Given the description of an element on the screen output the (x, y) to click on. 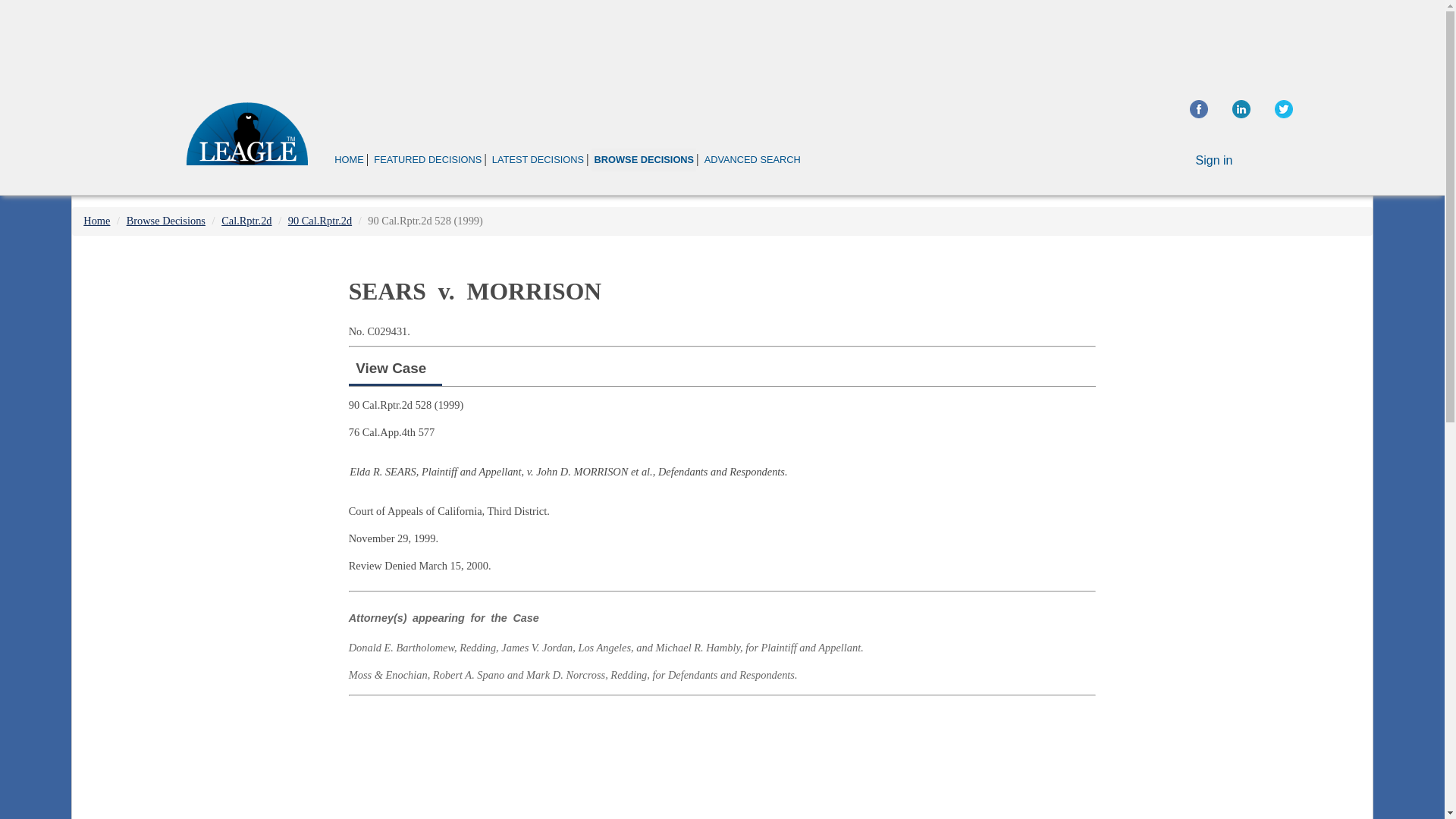
Home (96, 220)
HOME (348, 159)
View Case (390, 367)
Browse Decisions (165, 220)
ADVANCED SEARCH (752, 159)
90 Cal.Rptr.2d (320, 220)
Advertisement (721, 41)
LATEST DECISIONS (537, 159)
FEATURED DECISIONS (427, 159)
Sign in (1214, 160)
Advertisement (722, 760)
BROWSE DECISIONS (643, 159)
Advertisement (1242, 356)
Cal.Rptr.2d (245, 220)
